Given the description of an element on the screen output the (x, y) to click on. 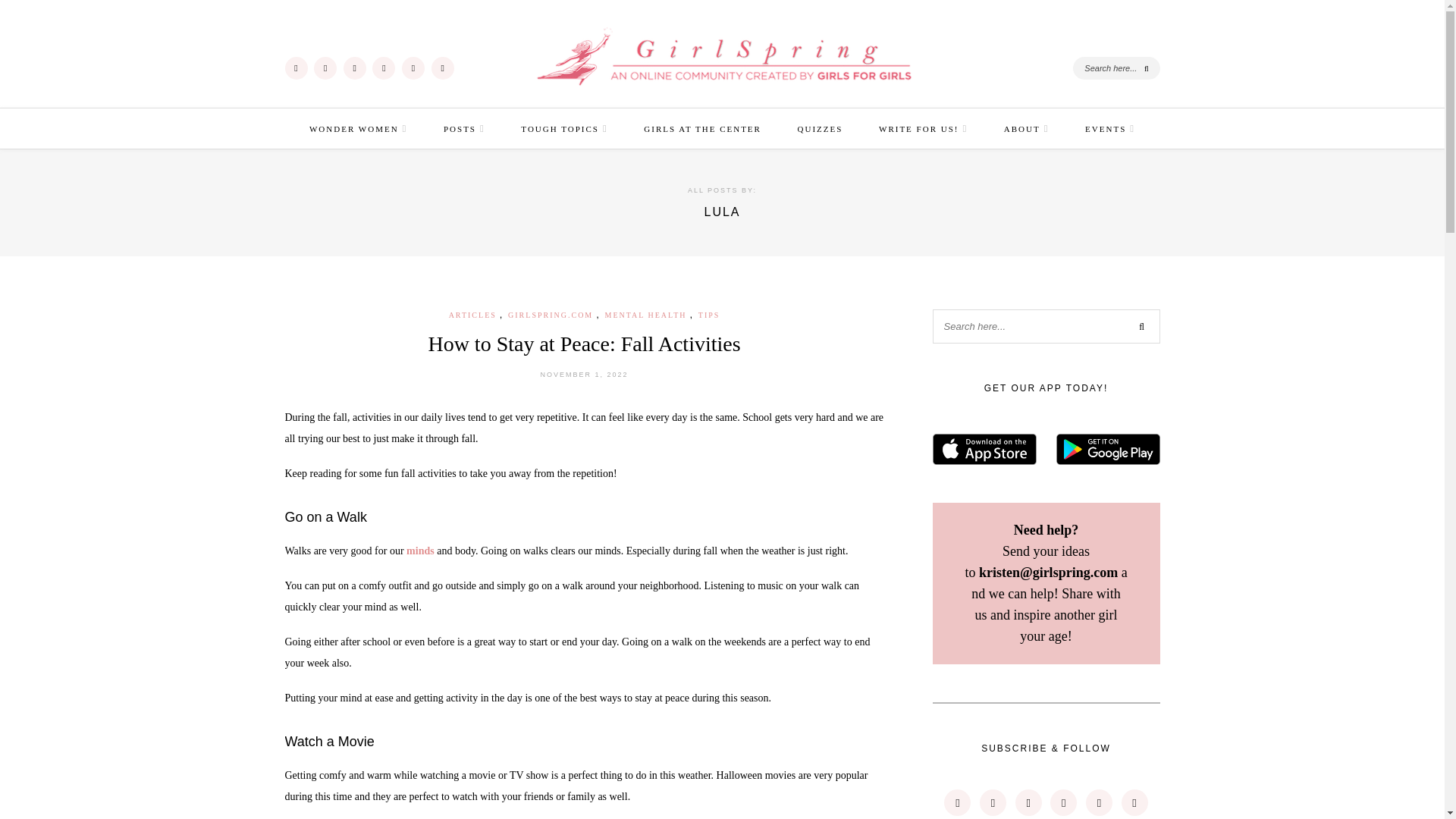
POSTS (464, 128)
WONDER WOMEN (357, 128)
TOUGH TOPICS (564, 128)
